Given the description of an element on the screen output the (x, y) to click on. 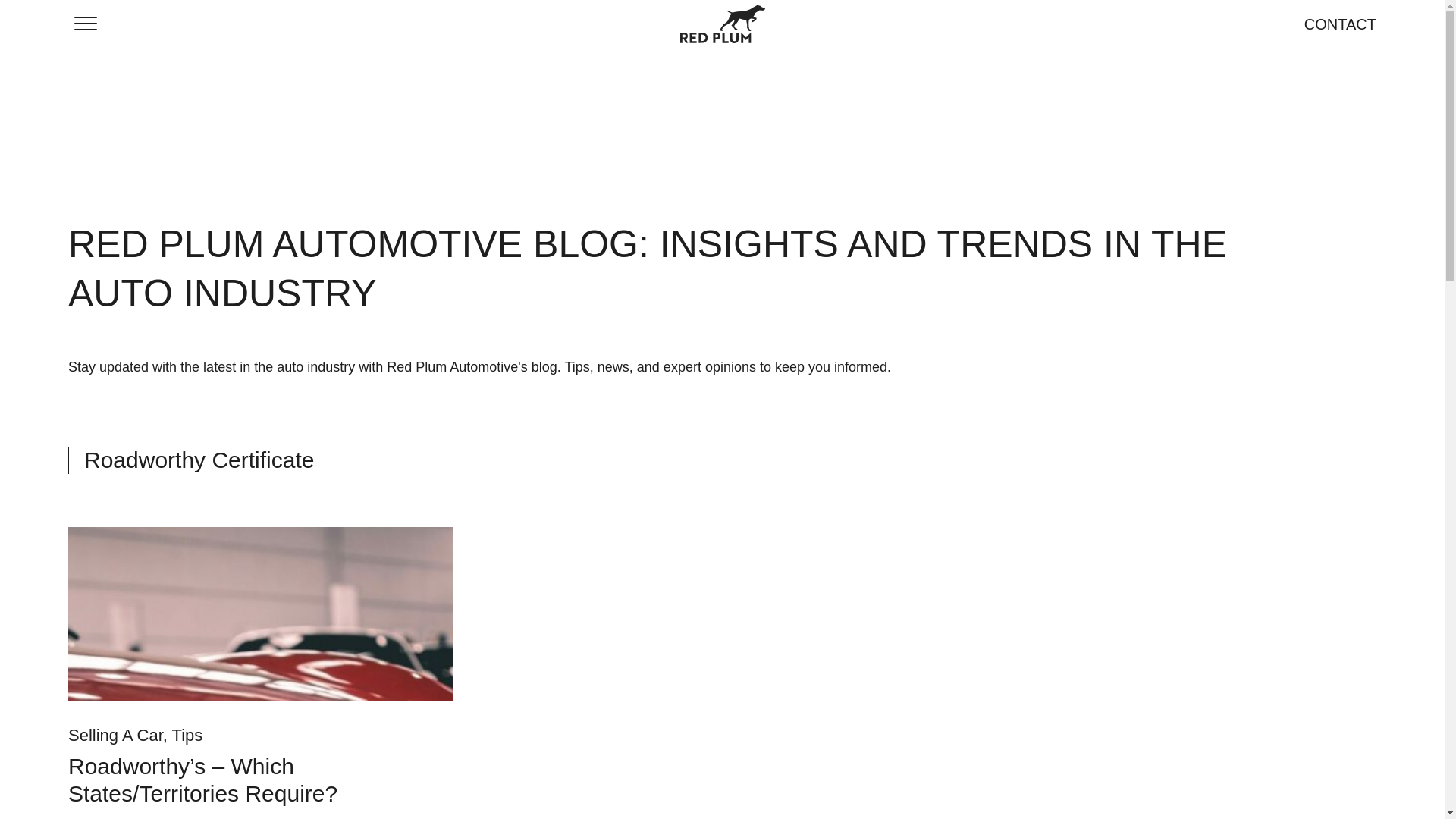
Selling A Car (115, 734)
header-logo-gray (721, 23)
CONTACT (1339, 24)
Tips (187, 734)
